Given the description of an element on the screen output the (x, y) to click on. 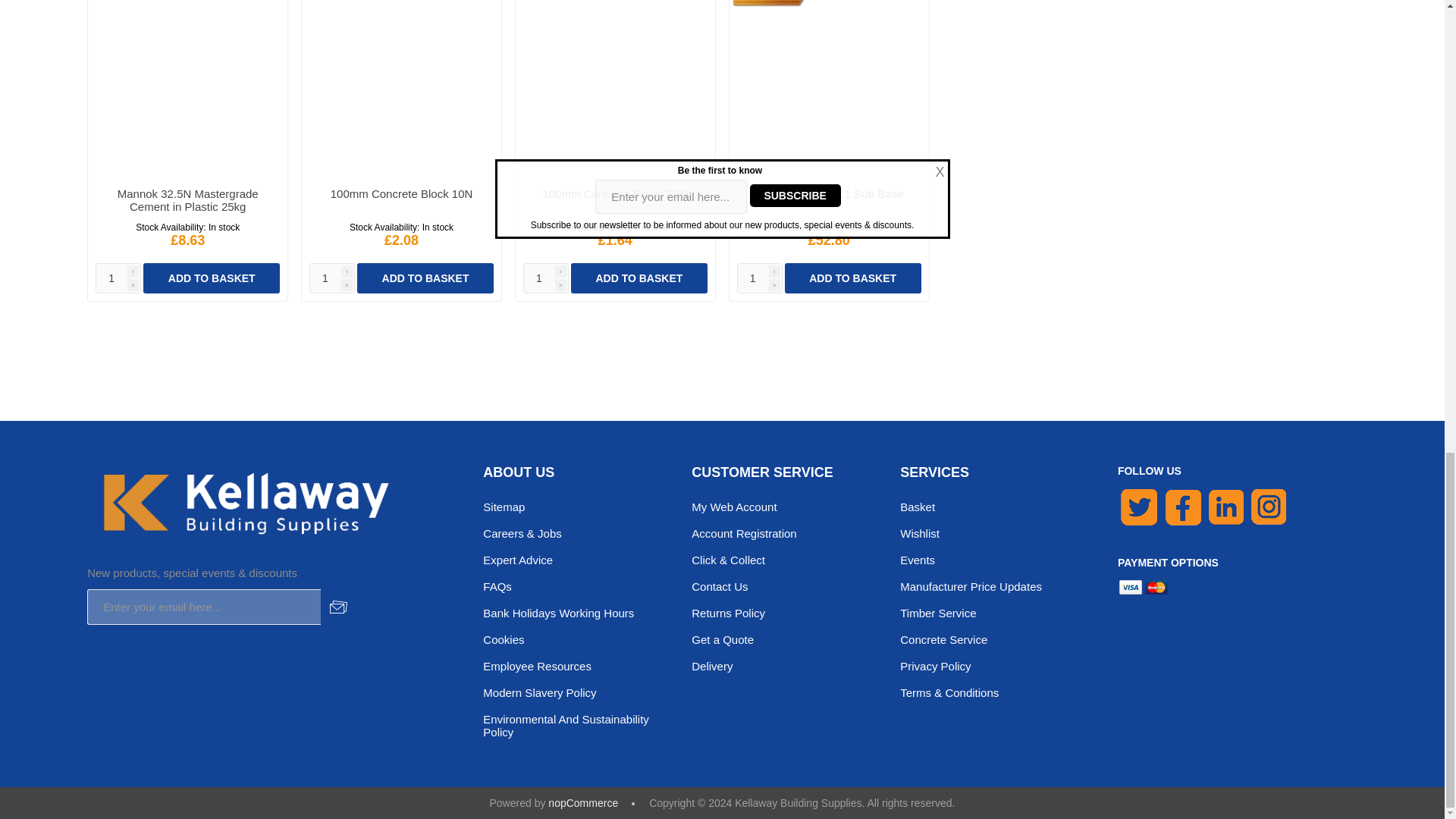
Add to basket (424, 277)
1 (118, 277)
1 (759, 277)
Add to basket (638, 277)
Add to basket (210, 277)
Add to basket (852, 277)
1 (545, 277)
1 (331, 277)
Subscribe (338, 606)
